Given the description of an element on the screen output the (x, y) to click on. 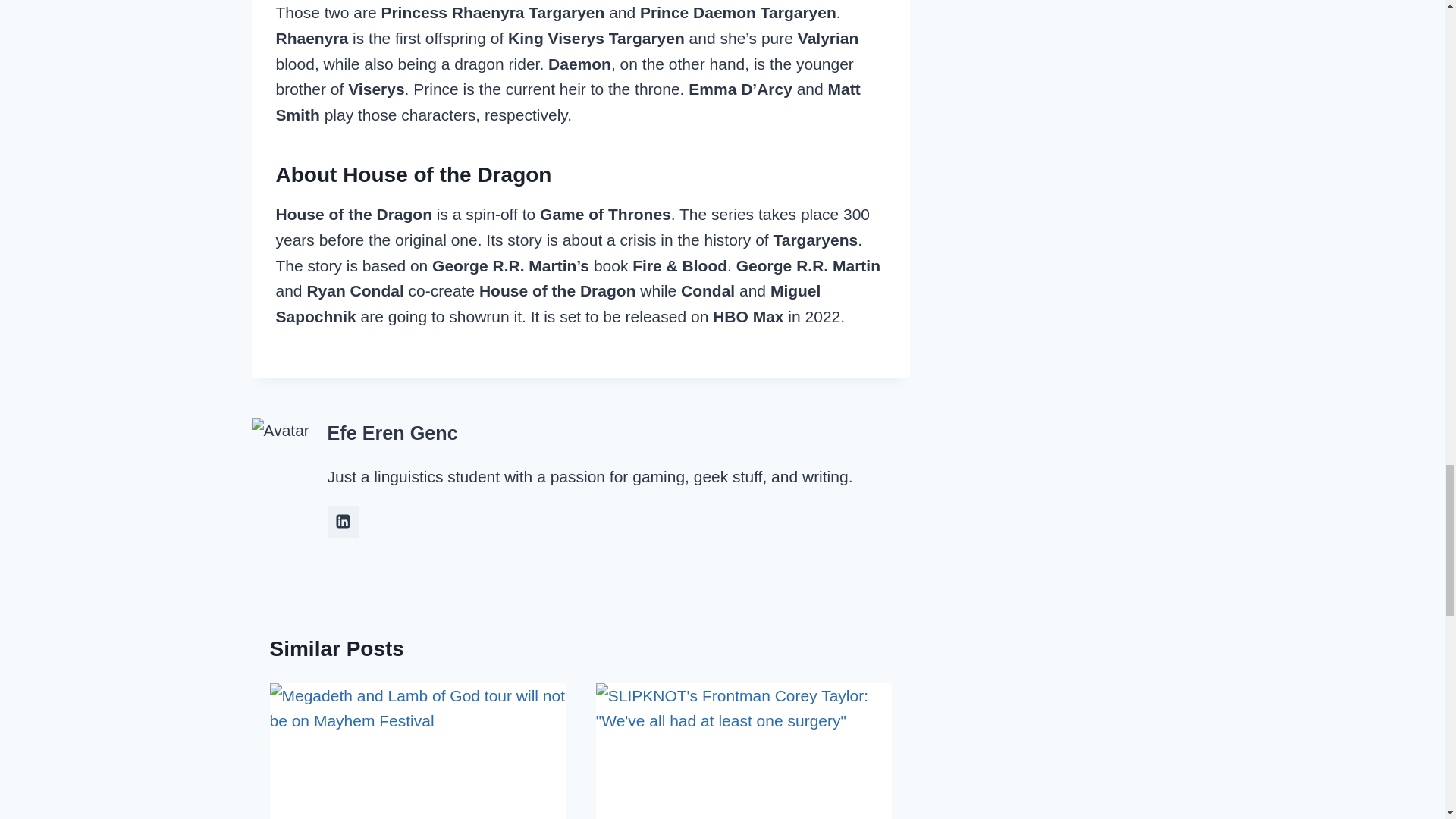
Follow Efe Eren Genc on Linkedin (343, 521)
Efe Eren Genc (392, 432)
Posts by Efe Eren Genc (392, 432)
